Given the description of an element on the screen output the (x, y) to click on. 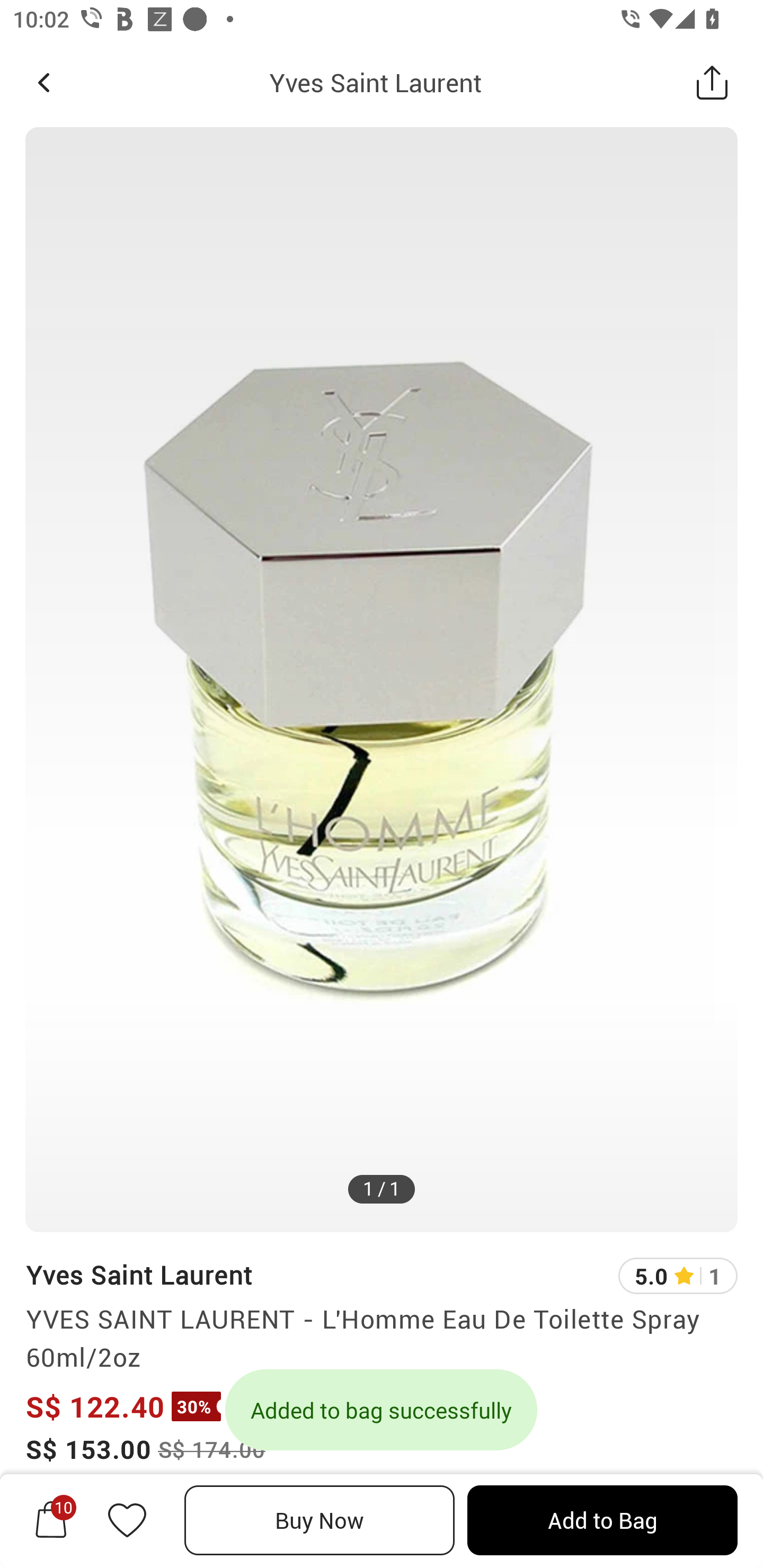
Yves Saint Laurent (375, 82)
Share this Product (711, 82)
Yves Saint Laurent (138, 1274)
5.0 1 (677, 1275)
Buy Now (319, 1519)
Add to Bag (601, 1519)
10 (50, 1520)
